Given the description of an element on the screen output the (x, y) to click on. 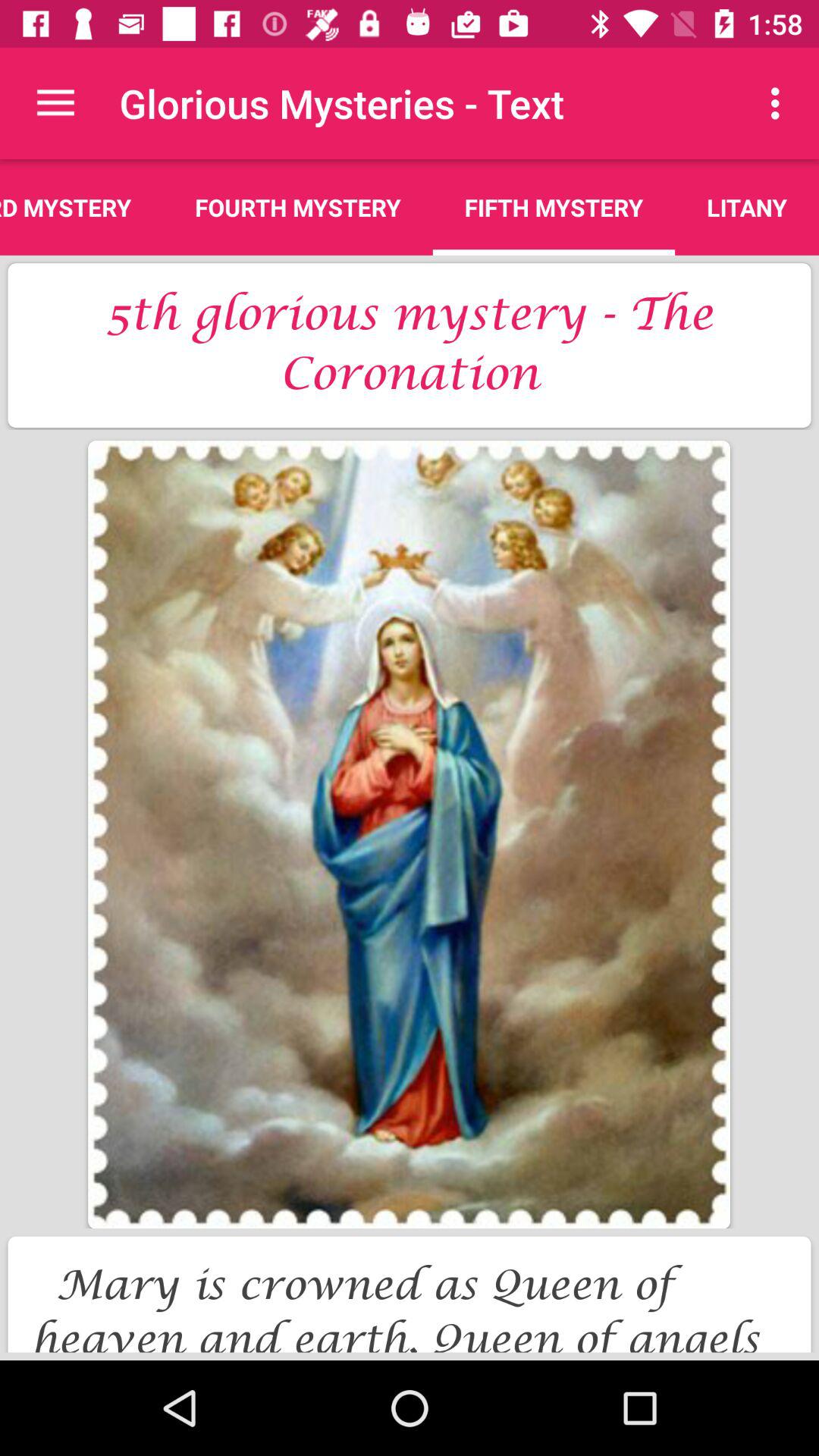
launch icon above the litany app (779, 103)
